Given the description of an element on the screen output the (x, y) to click on. 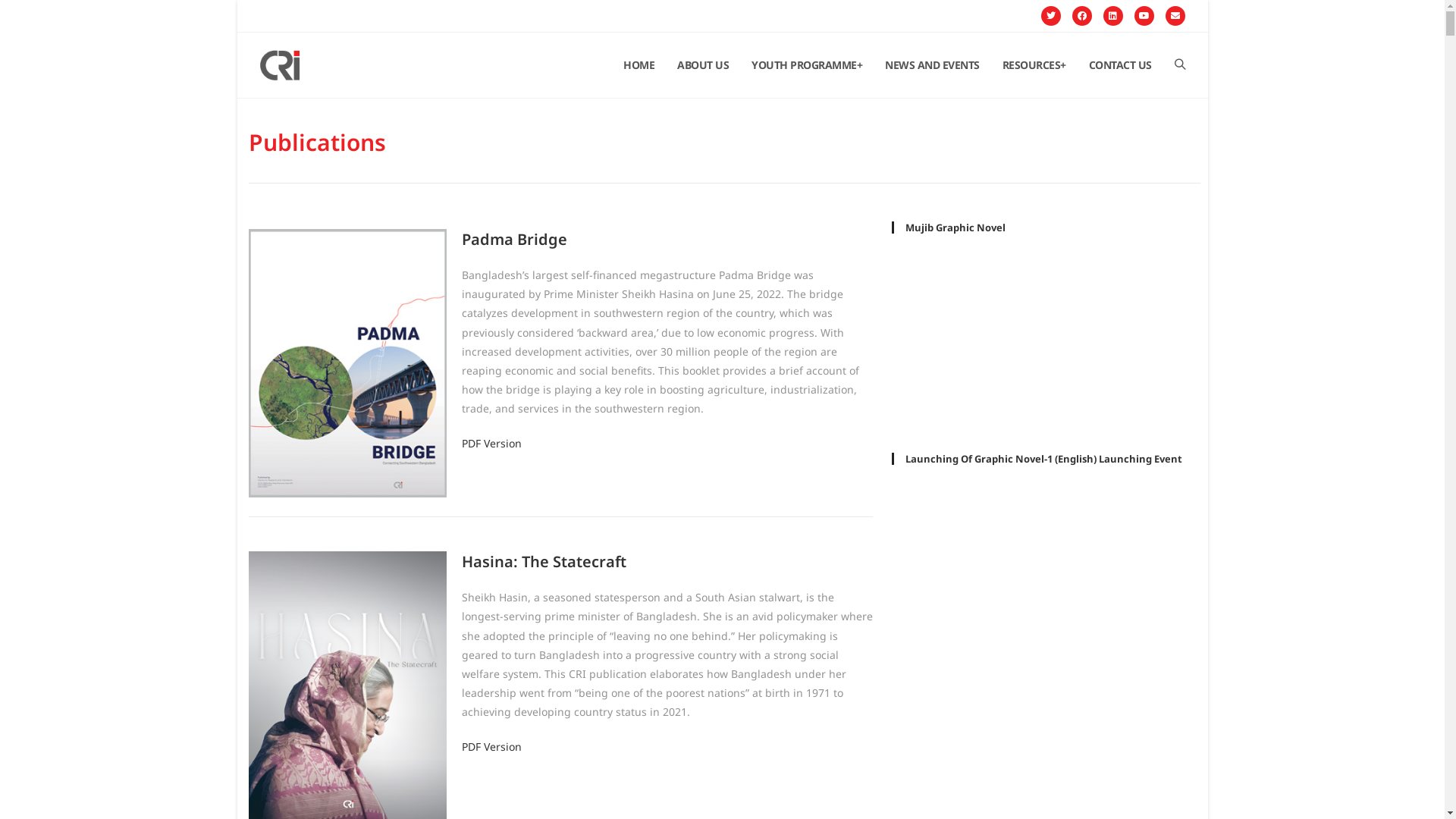
NEWS AND EVENTS Element type: text (932, 64)
HOME Element type: text (638, 64)
Launching Ceremony of Graphic Novel "MUJIB" Element type: hover (1045, 566)
YOUTH PROGRAMME+ Element type: text (806, 64)
ABOUT US Element type: text (702, 64)
PDF Version Element type: text (491, 746)
CONTACT US Element type: text (1119, 64)
PDF Version Element type: text (491, 442)
RESOURCES+ Element type: text (1033, 64)
Mujib Graphic Novel Element type: hover (1045, 335)
Hasina: The Statecraft Element type: text (543, 561)
Padma Bridge Element type: text (514, 239)
